Given the description of an element on the screen output the (x, y) to click on. 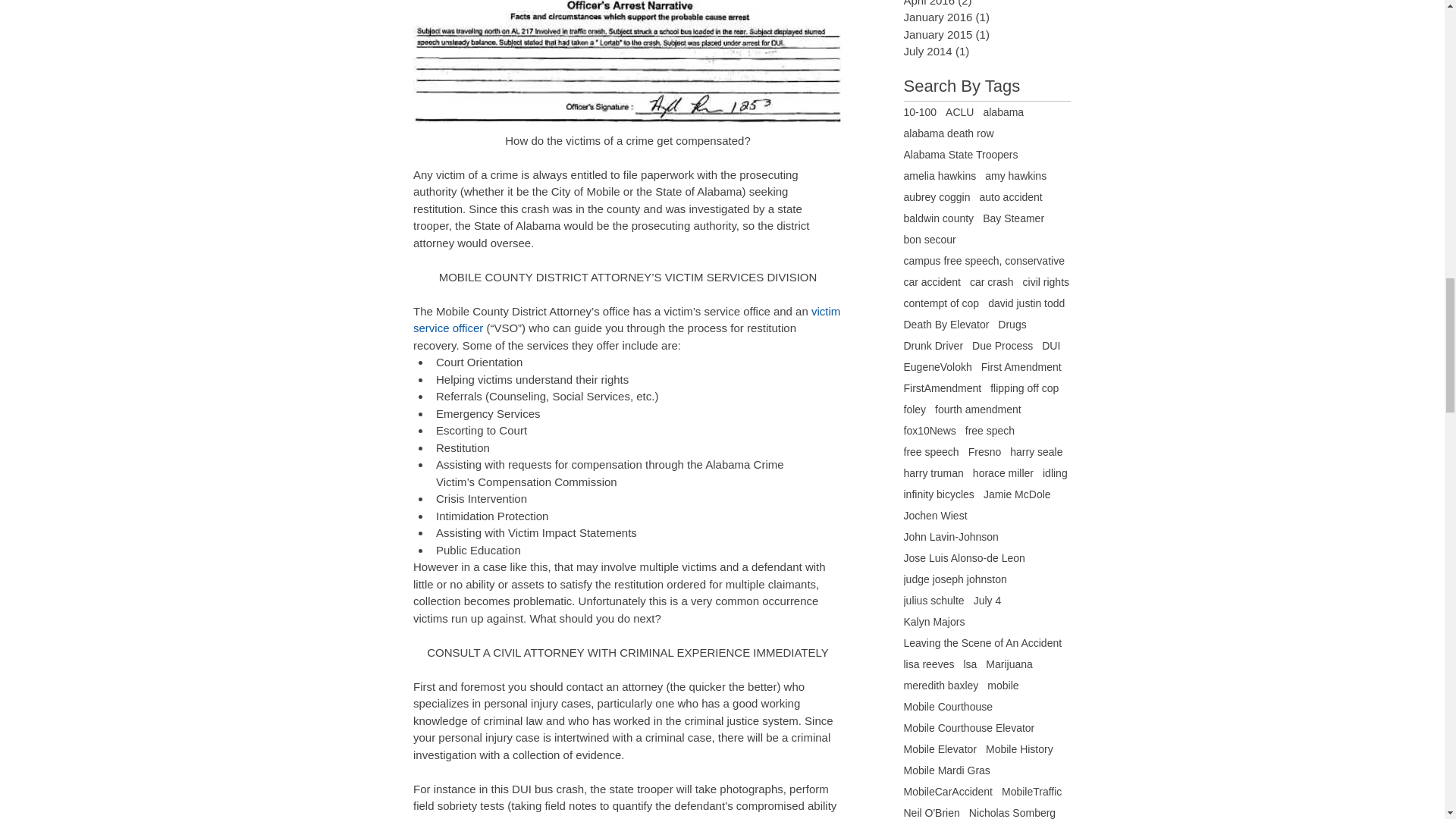
victim service officer (627, 319)
